Given the description of an element on the screen output the (x, y) to click on. 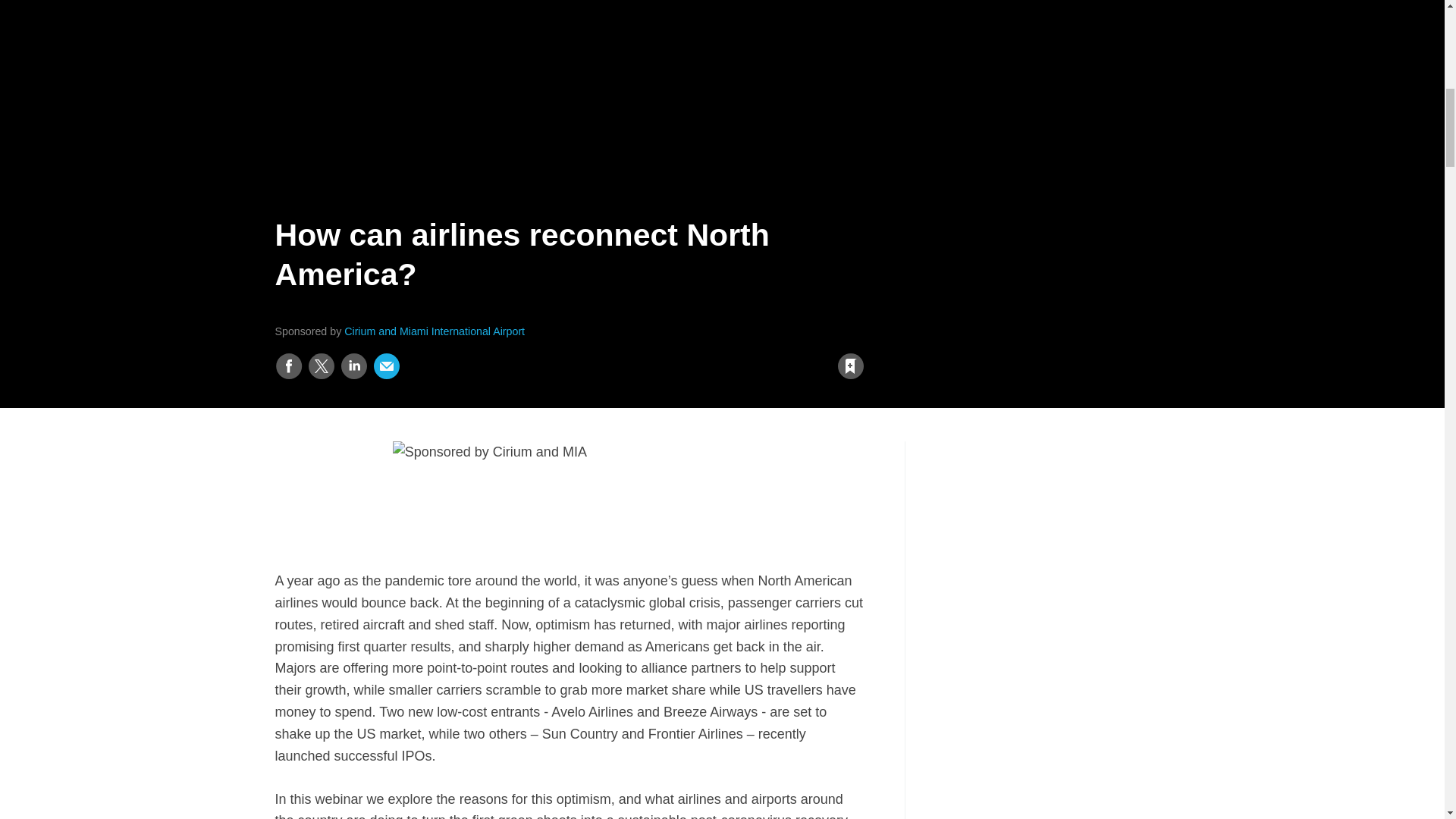
Share this on Twitter (320, 366)
Share this on Facebook (288, 366)
Email this article (386, 366)
Share this on Linked in (352, 366)
